Given the description of an element on the screen output the (x, y) to click on. 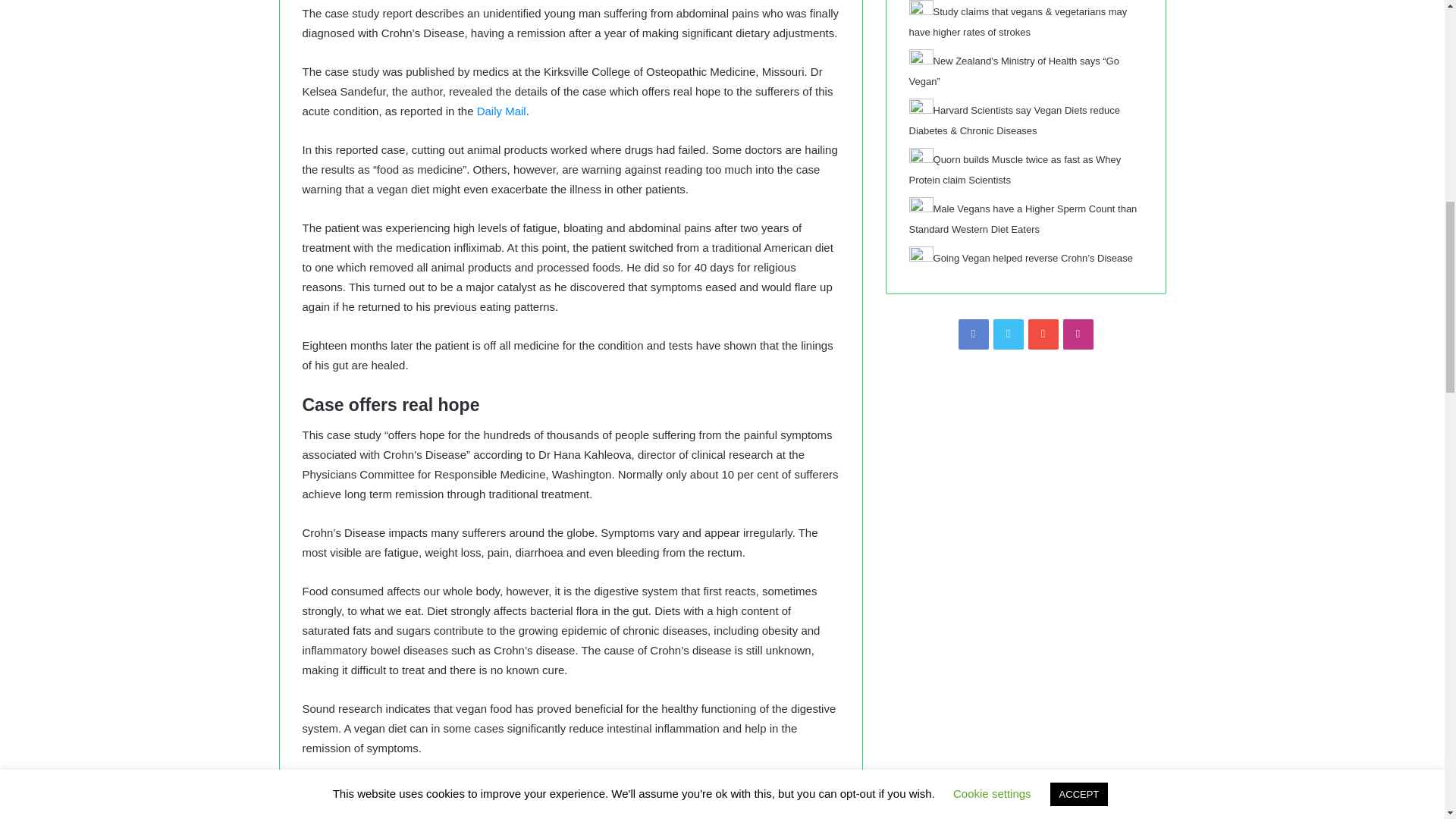
Daily Mail (501, 110)
